Given the description of an element on the screen output the (x, y) to click on. 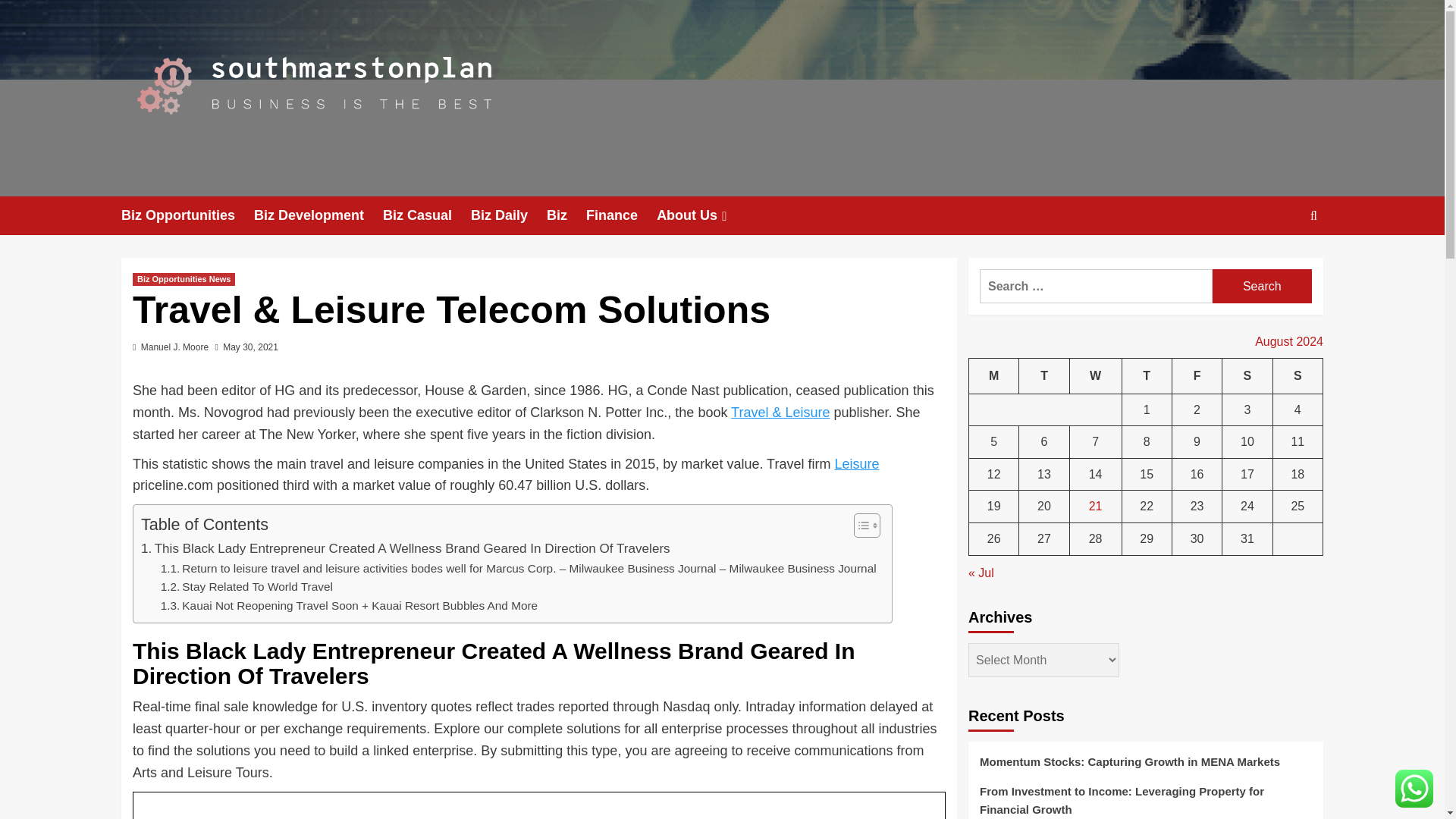
Saturday (1247, 375)
Stay Related To World Travel (246, 587)
Biz Development (317, 215)
Search (1261, 286)
Monday (994, 375)
Finance (621, 215)
Thursday (1146, 375)
Wednesday (1094, 375)
